Given the description of an element on the screen output the (x, y) to click on. 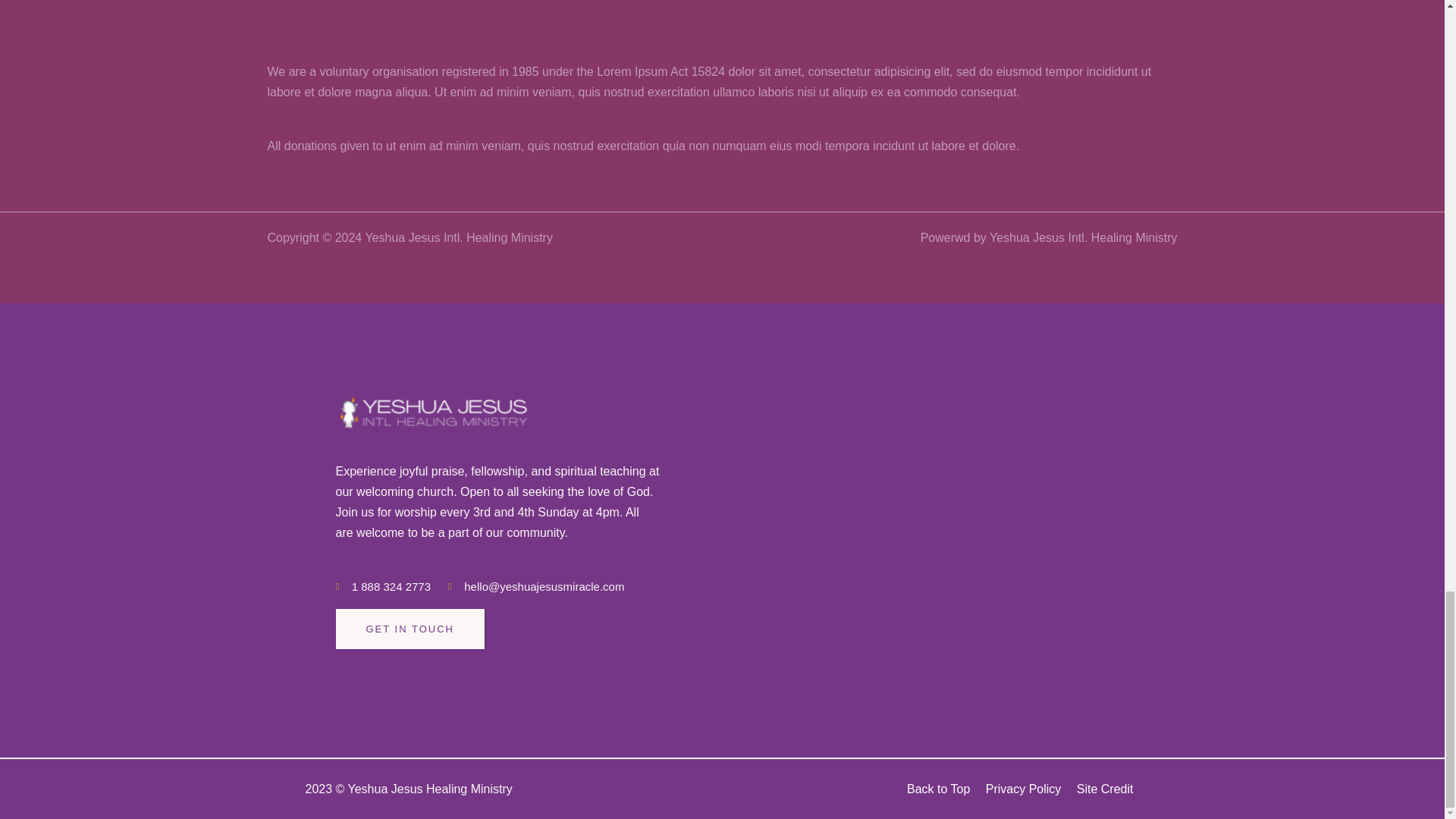
Privacy Policy (1023, 789)
Back to Top (938, 789)
GET IN TOUCH (408, 629)
1 888 324 2773 (382, 586)
Site Credit (1105, 789)
